Given the description of an element on the screen output the (x, y) to click on. 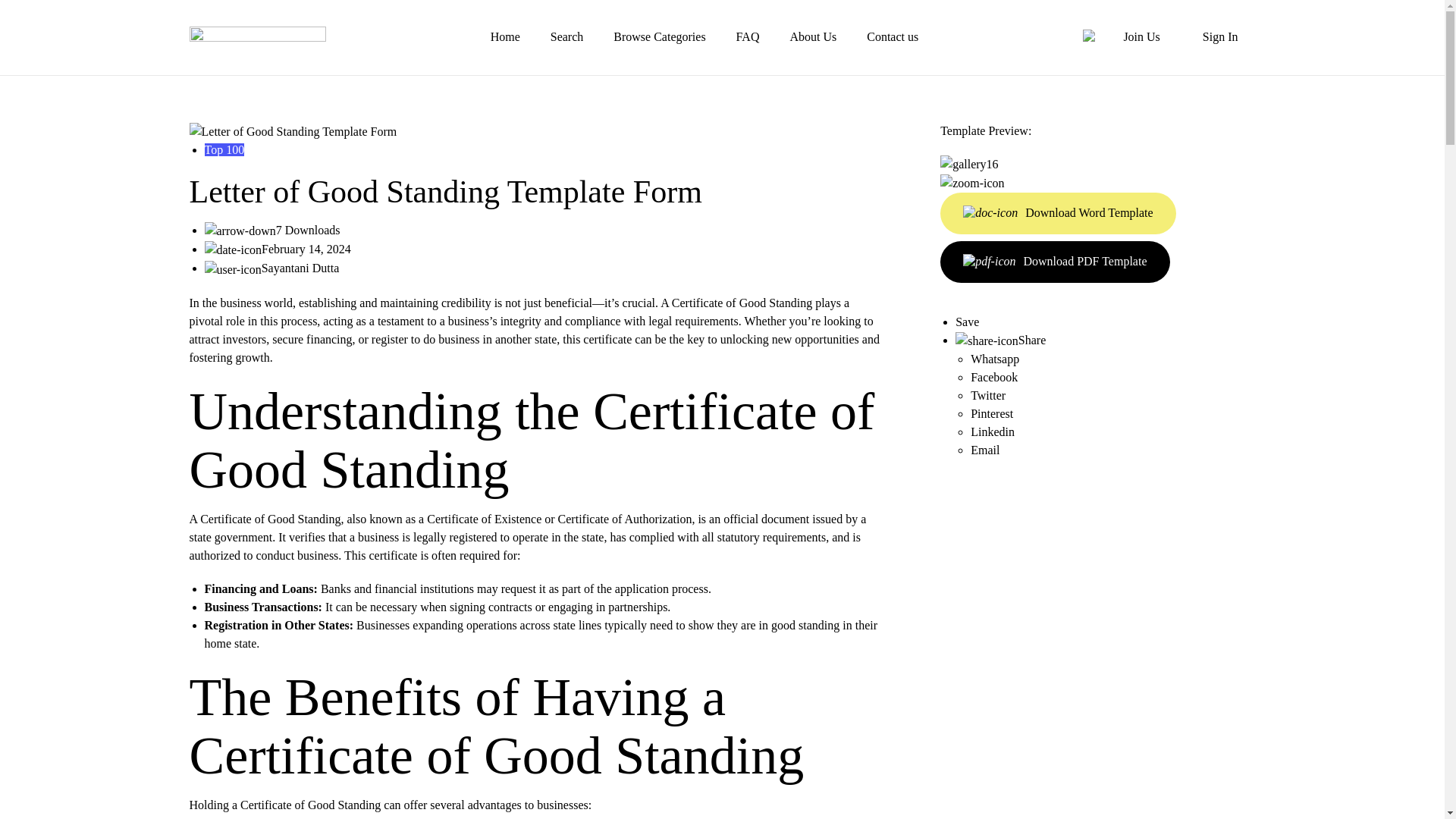
Contact us (892, 36)
Home (504, 36)
Sign In (1220, 37)
Join Us (1140, 37)
Browse Categories (658, 36)
Search (566, 36)
Sign In (1220, 37)
About Us (812, 36)
Join Us (1140, 37)
FAQ (748, 36)
